Given the description of an element on the screen output the (x, y) to click on. 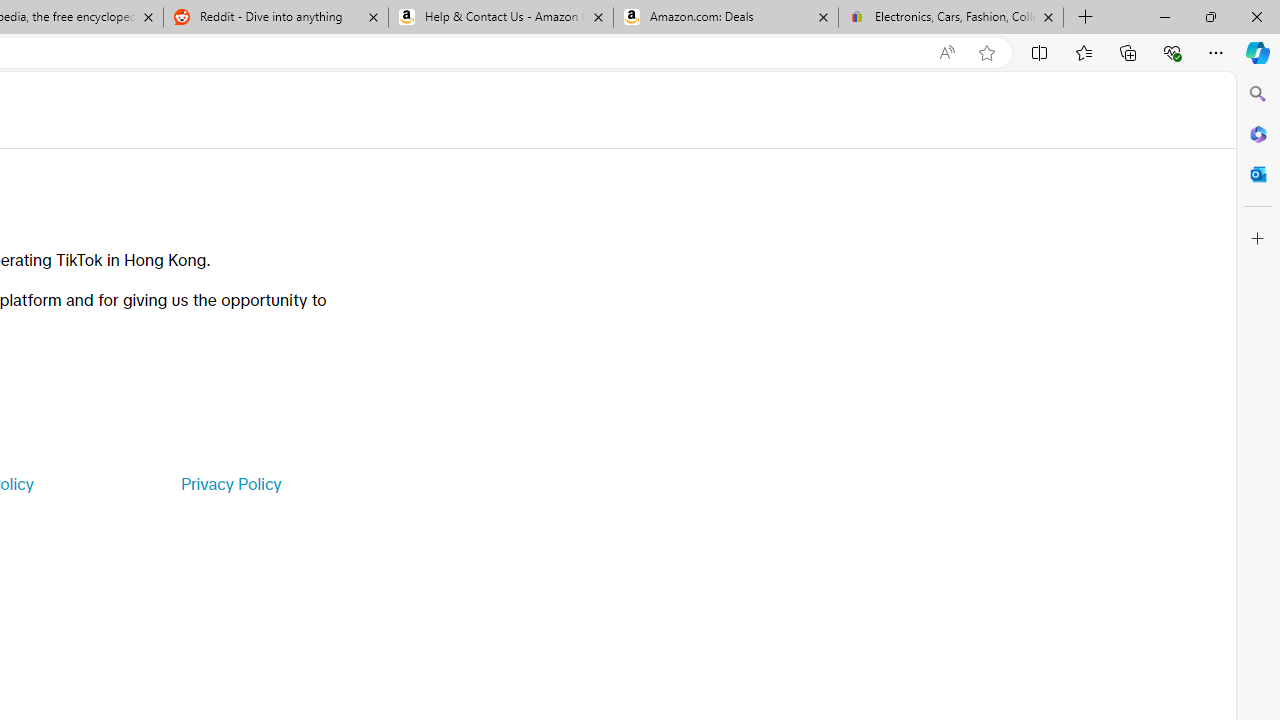
Help & Contact Us - Amazon Customer Service (501, 17)
